Given the description of an element on the screen output the (x, y) to click on. 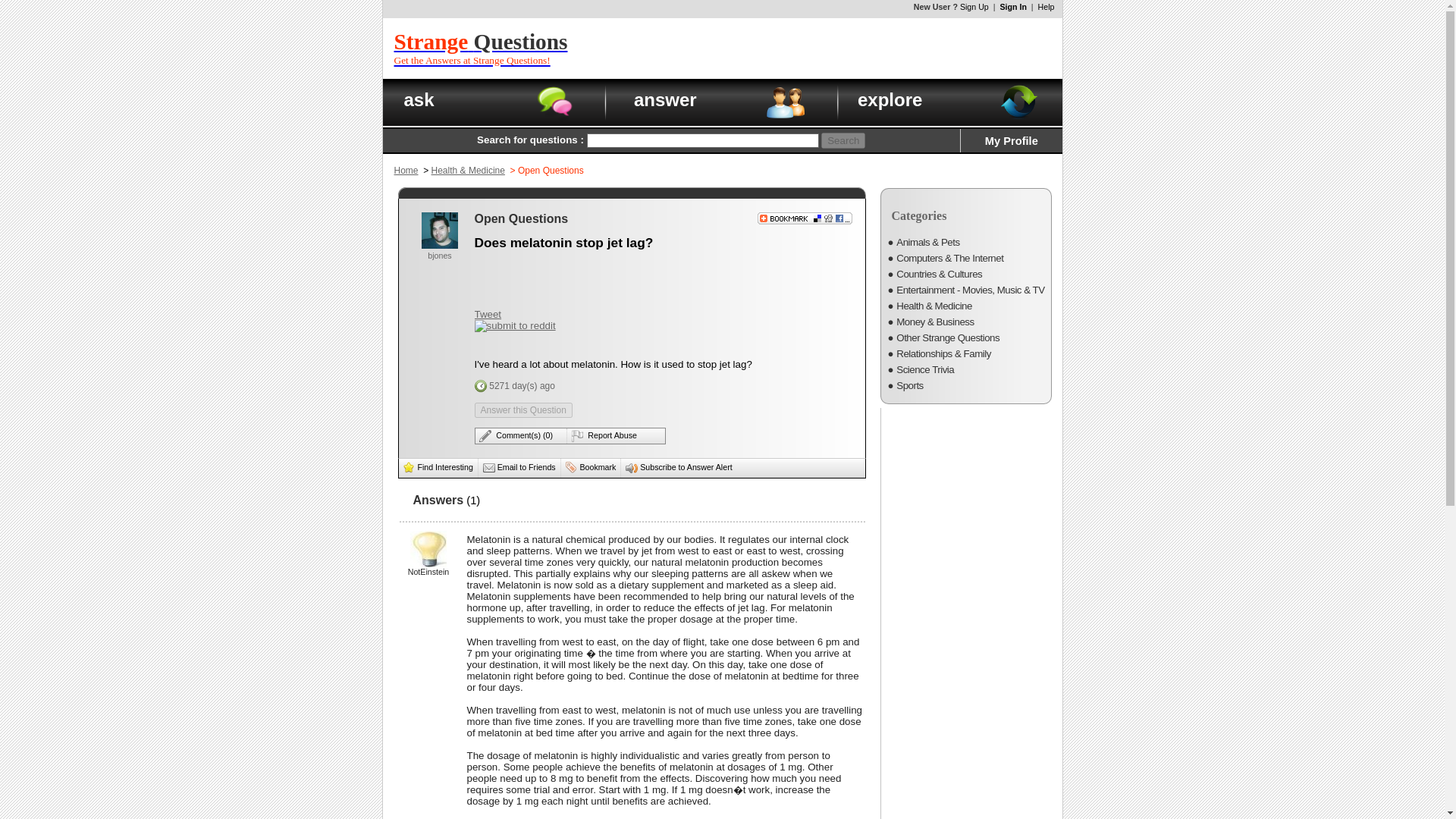
Help (1046, 6)
bjones (443, 260)
Sign Up (480, 48)
Tweet (973, 6)
Advertisement (488, 314)
Answer this Question (833, 48)
Home (523, 409)
My Profile (406, 170)
Sign In (1011, 141)
